Given the description of an element on the screen output the (x, y) to click on. 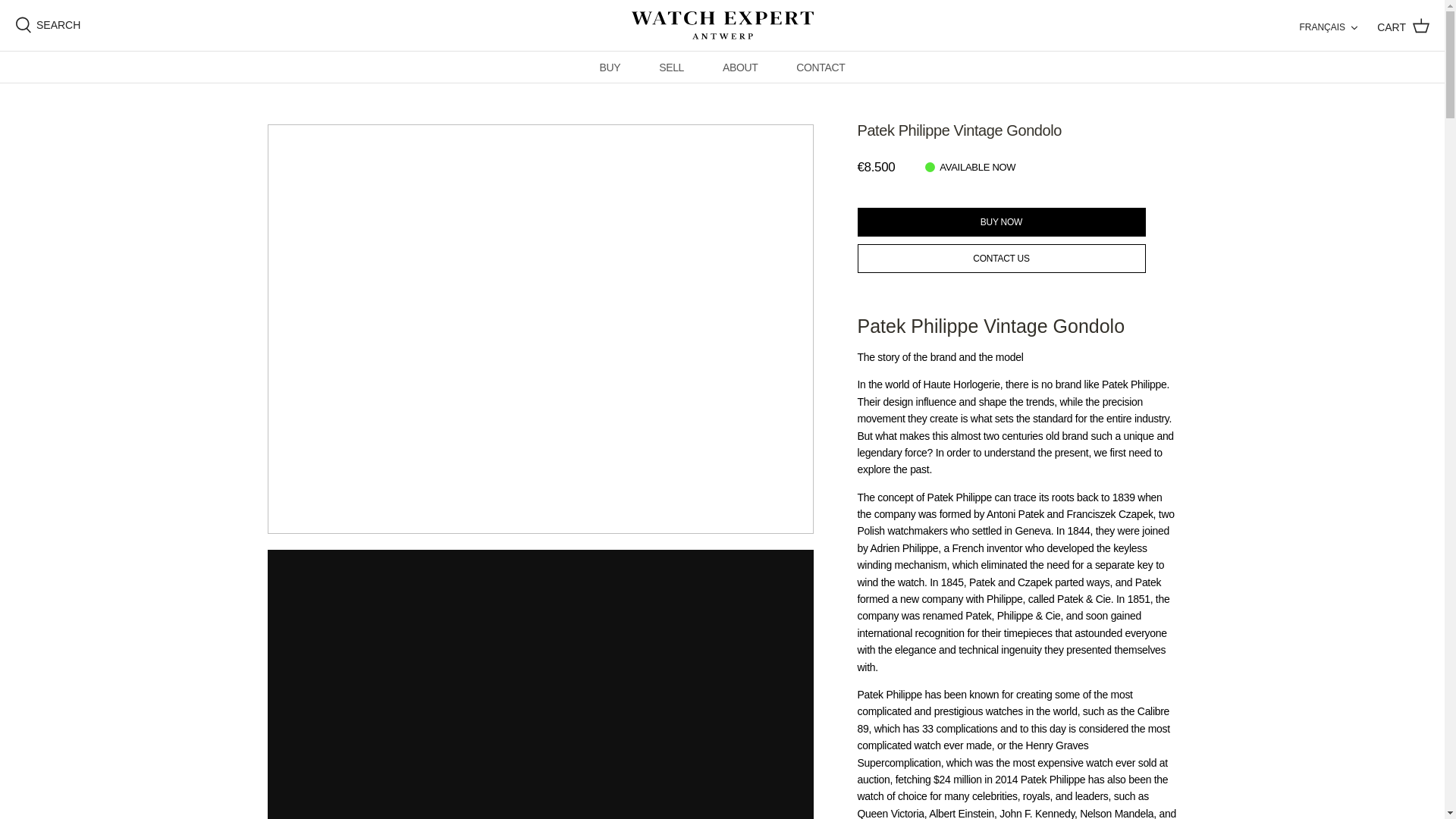
Watch Expert Antwerp (721, 25)
CART (1403, 25)
Buy now (1000, 222)
Buy now (1000, 222)
DOWN (1354, 27)
CONTACT (820, 66)
SEARCH (47, 24)
ABOUT (740, 66)
BUY (609, 66)
CONTACT US (1000, 258)
SELL (671, 66)
